Given the description of an element on the screen output the (x, y) to click on. 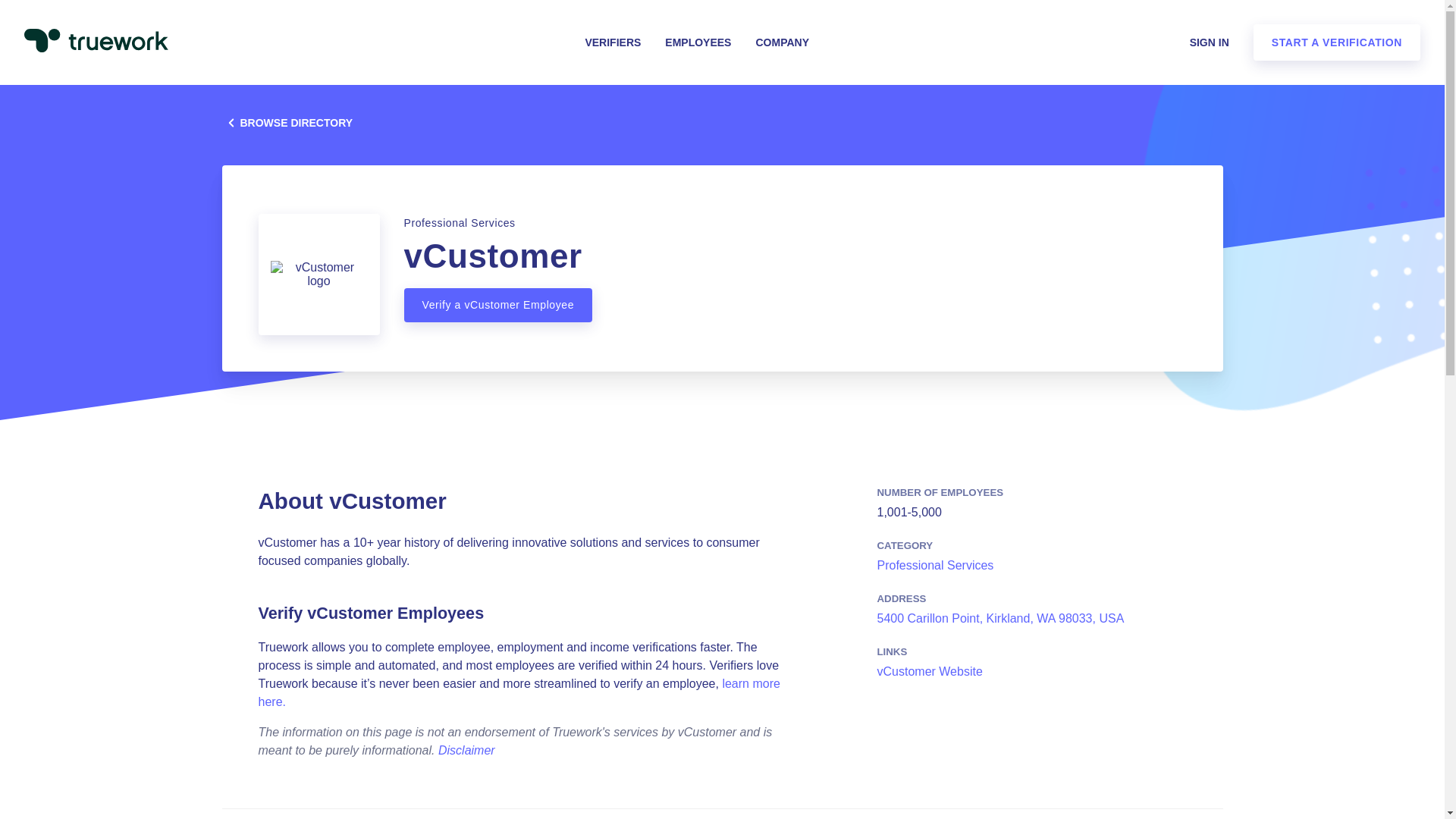
VERIFIERS (612, 42)
Verify a vCustomer Employee (497, 305)
5400 Carillon Point, Kirkland, WA 98033, USA (1000, 617)
BROWSE DIRECTORY (317, 122)
Professional Services (934, 564)
EMPLOYEES (697, 42)
COMPANY (782, 42)
START A VERIFICATION (1337, 42)
SIGN IN (1208, 42)
vCustomer Website (928, 671)
